Given the description of an element on the screen output the (x, y) to click on. 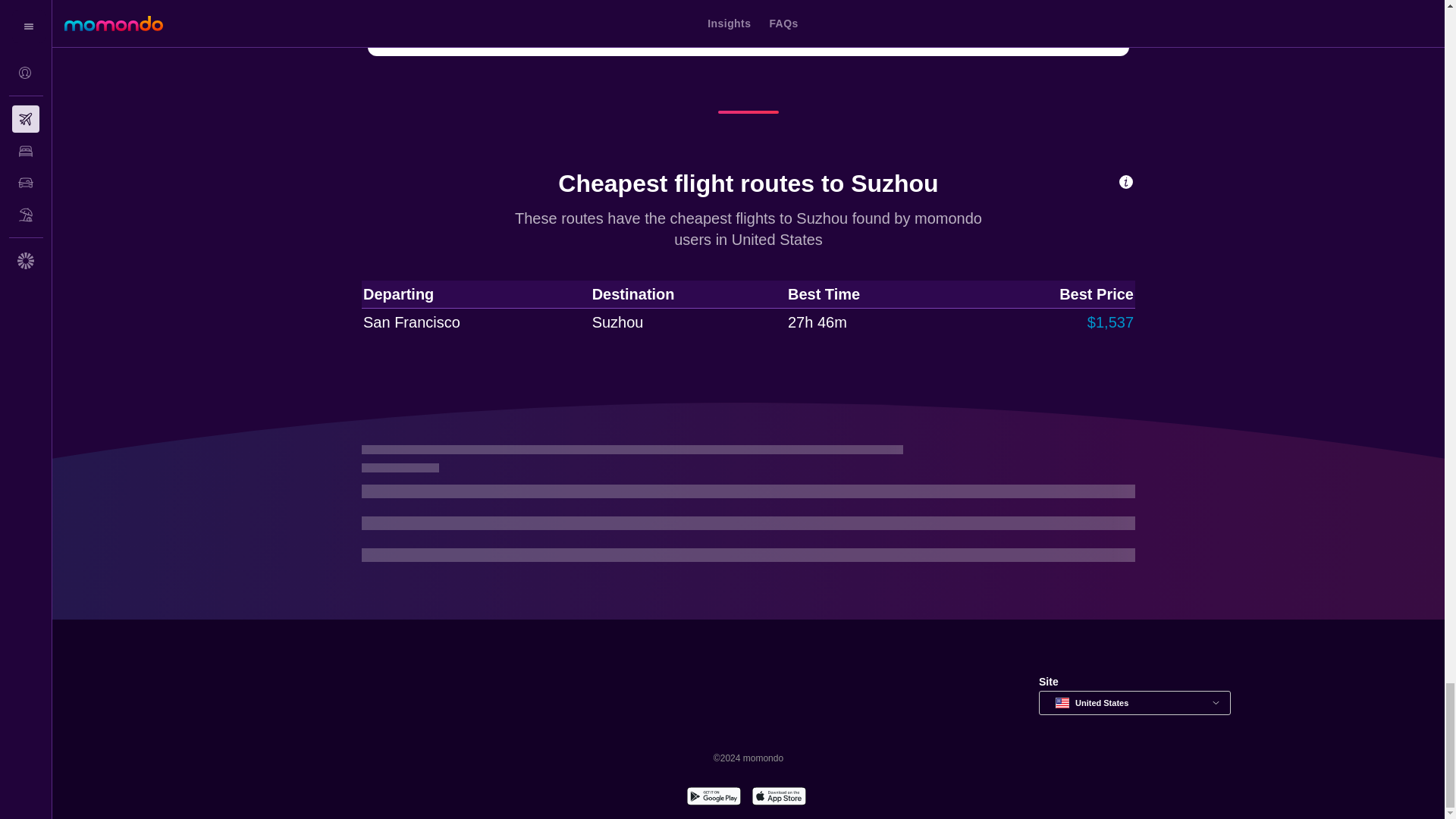
Get it on Google Play (713, 797)
Download on the App Store (778, 797)
San Francisco to Suzhou Flights (458, 20)
